Given the description of an element on the screen output the (x, y) to click on. 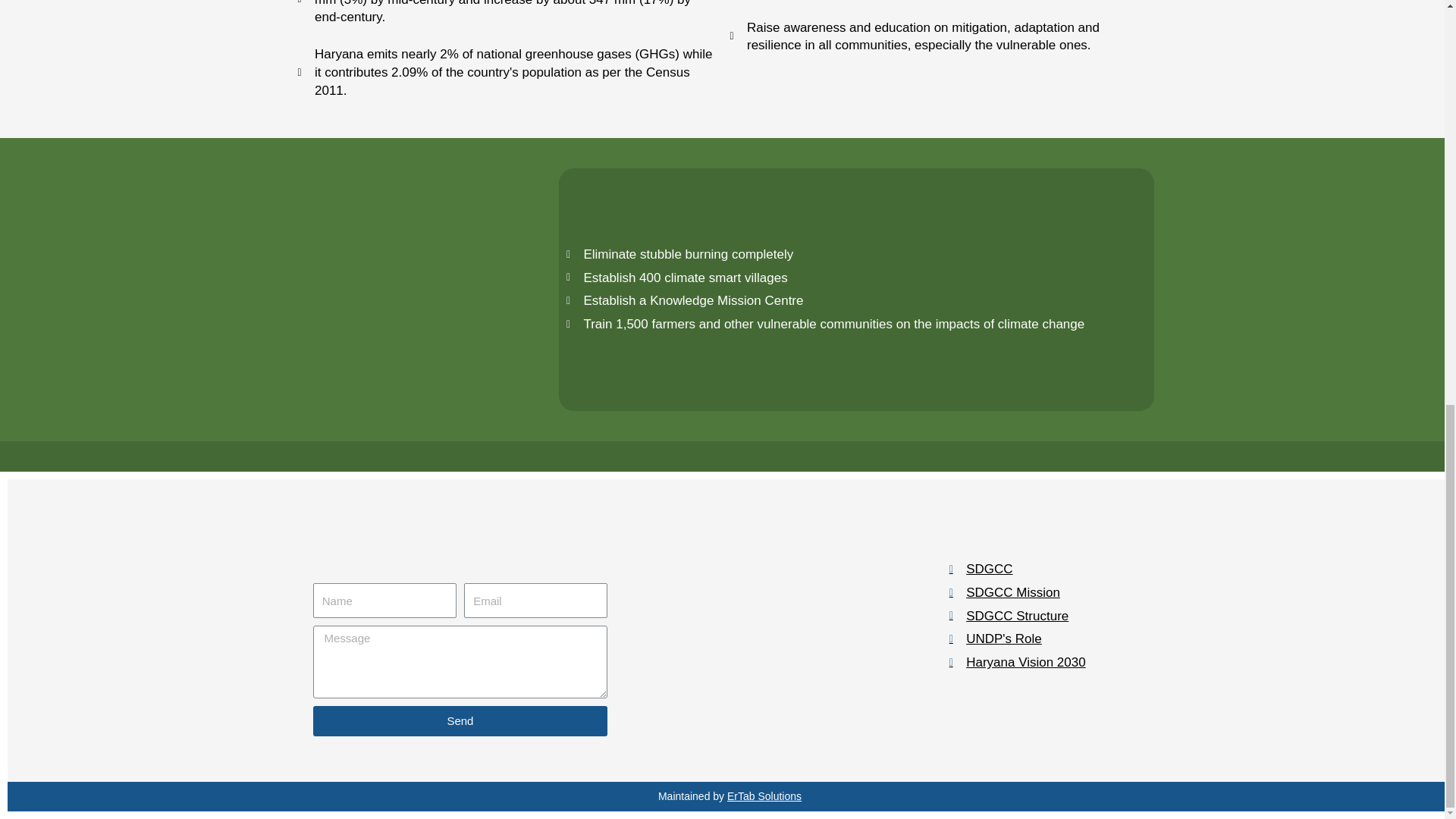
UNDP's Role (1048, 638)
SDGCC (1048, 569)
ErTab Solutions (764, 796)
SDGCC Mission (1048, 592)
SDGCC Structure (1048, 616)
Haryana Vision 2030 (1048, 662)
Send (460, 720)
